Given the description of an element on the screen output the (x, y) to click on. 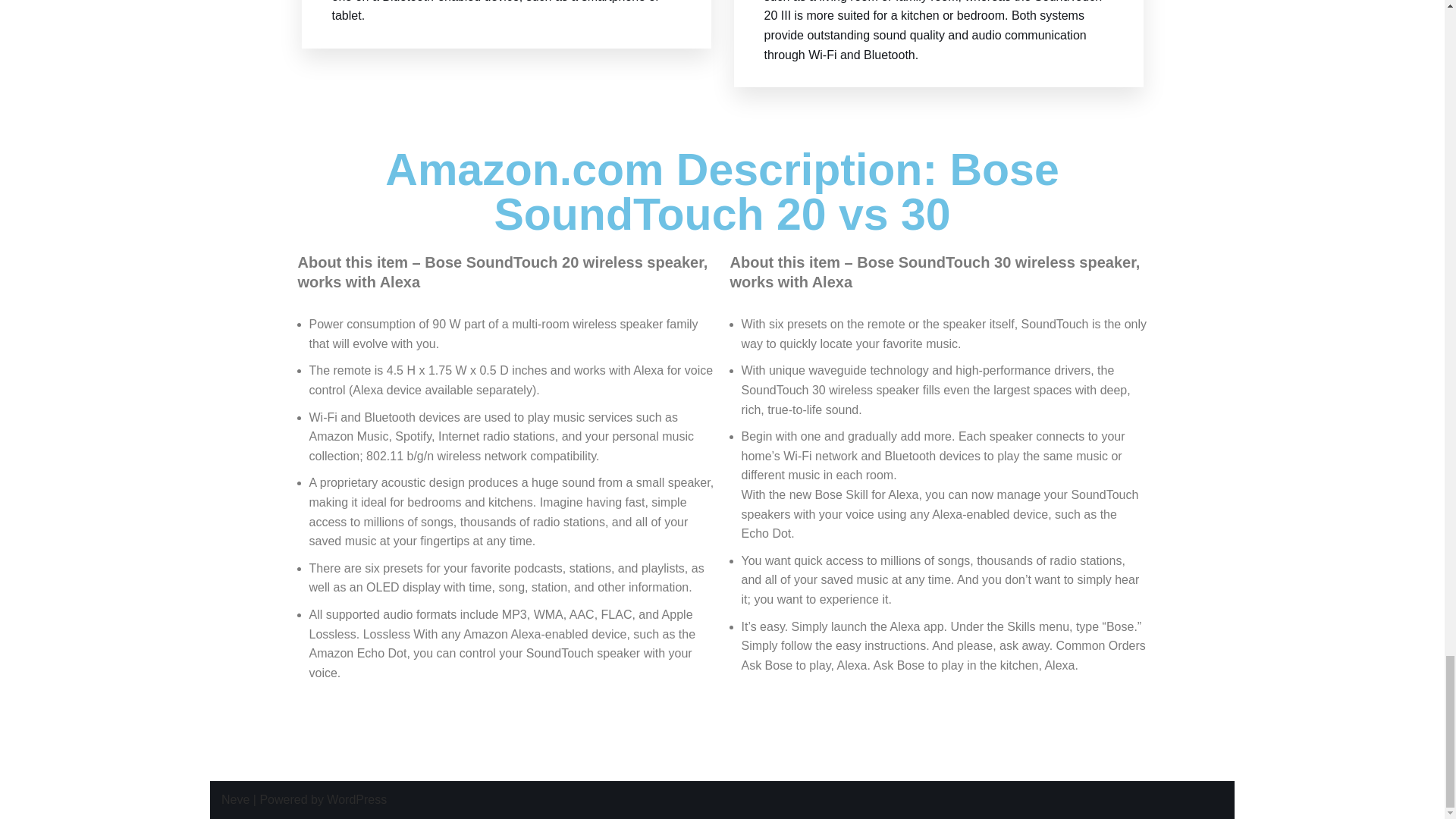
Neve (234, 799)
WordPress (356, 799)
